Given the description of an element on the screen output the (x, y) to click on. 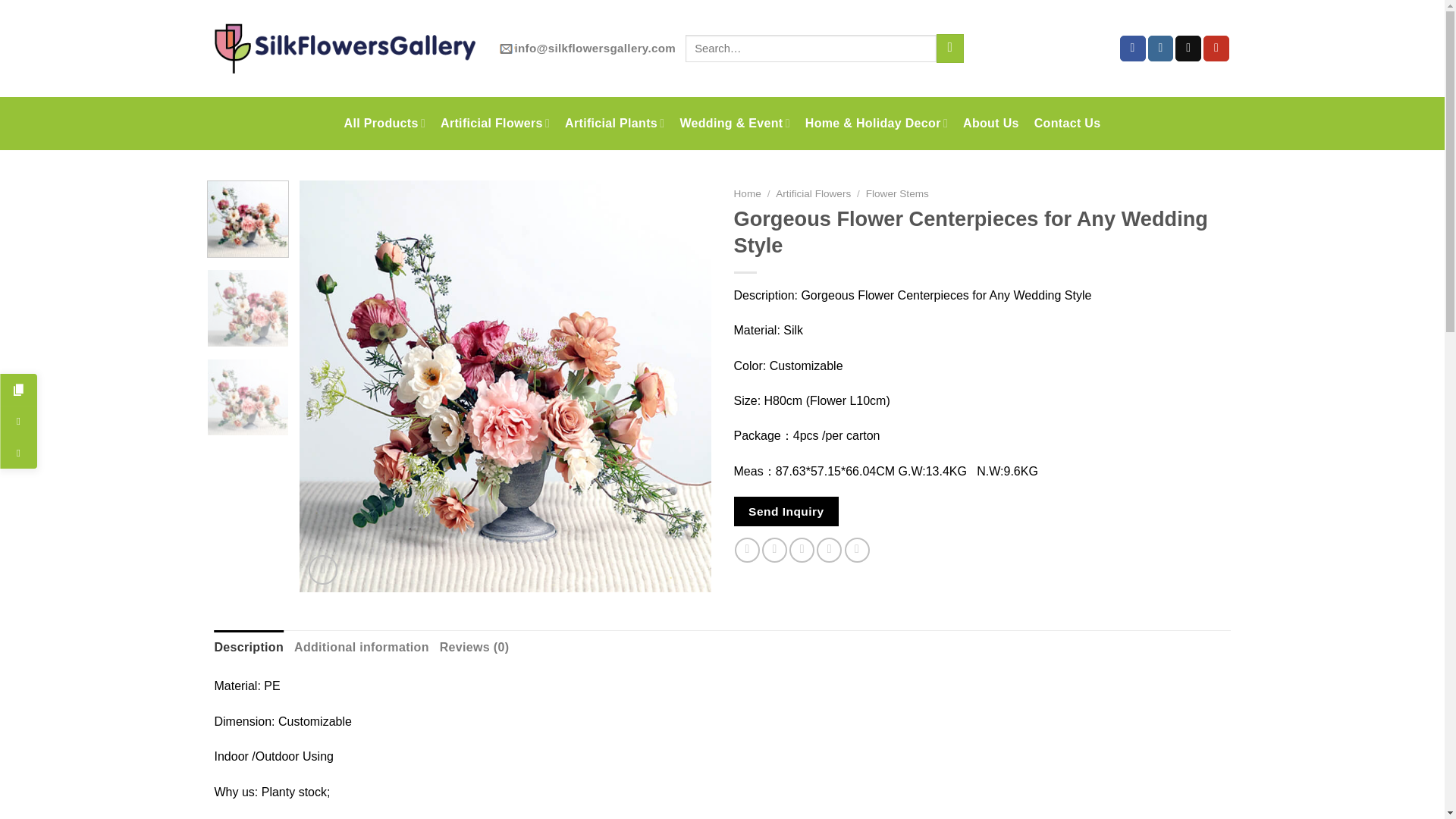
Share on Facebook (747, 549)
Zoom (322, 569)
Pin on Pinterest (828, 549)
Follow on YouTube (1216, 48)
Artificial Flowers (495, 123)
All Products (384, 123)
Artificial Plants (613, 123)
Follow on Facebook (1132, 48)
Search (949, 48)
Follow on TikTok (1187, 48)
